Given the description of an element on the screen output the (x, y) to click on. 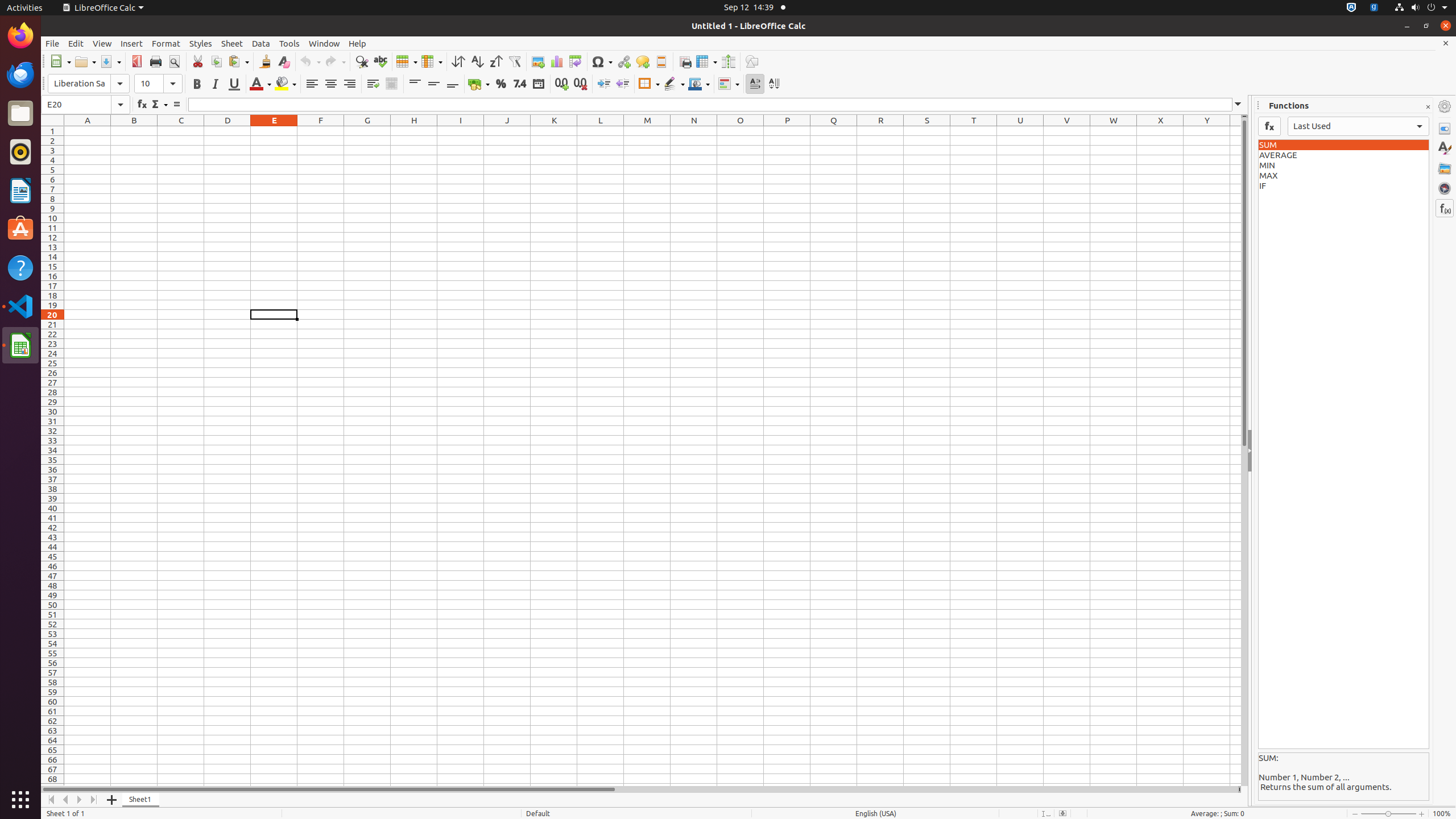
Symbol Element type: push-button (601, 61)
Sort Element type: push-button (457, 61)
Sort Ascending Element type: push-button (476, 61)
Clear Element type: push-button (283, 61)
Print Element type: push-button (155, 61)
